Given the description of an element on the screen output the (x, y) to click on. 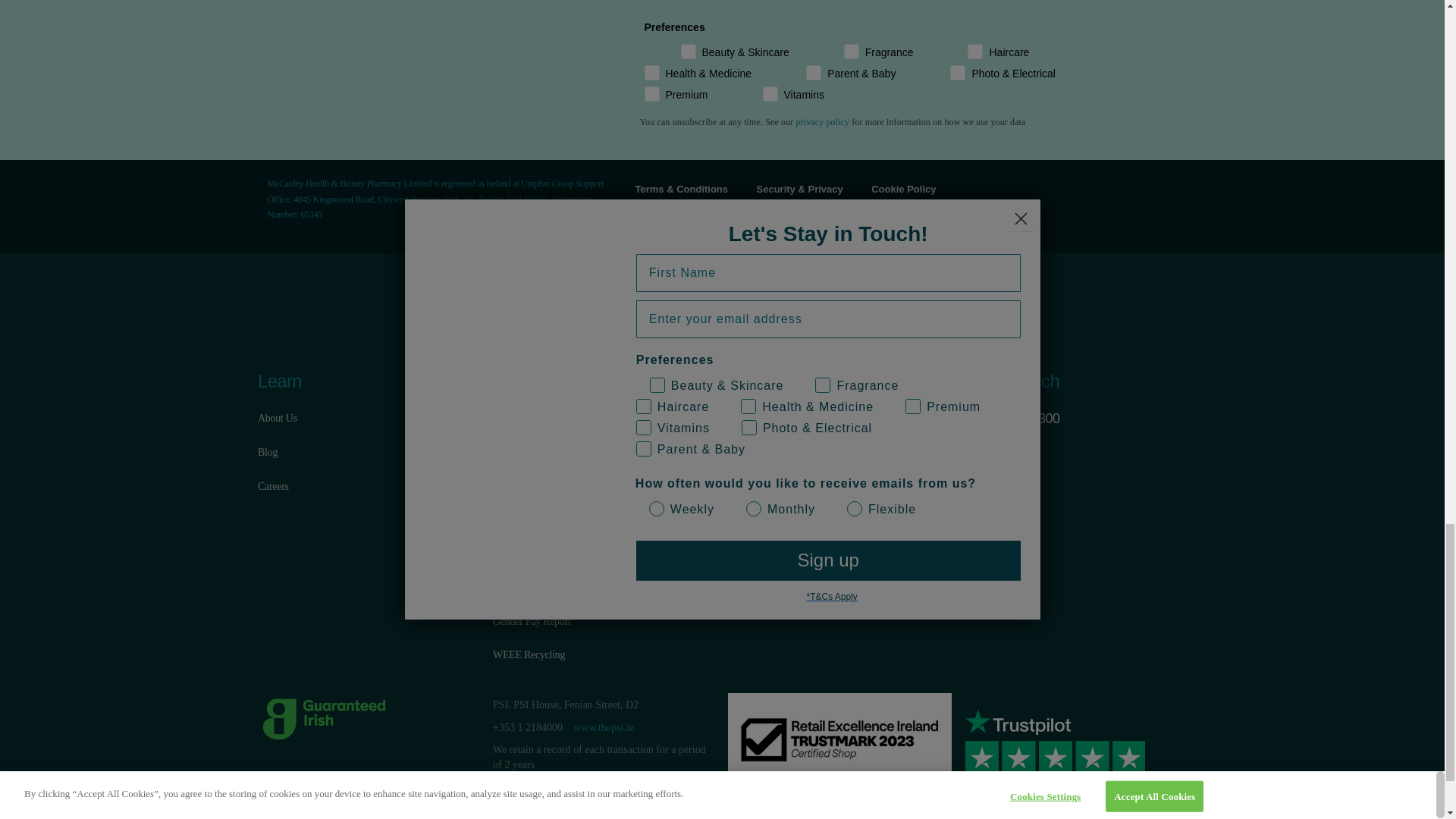
on (1051, 56)
on (759, 1)
on (649, 56)
on (918, 77)
on (731, 98)
on (1078, 77)
on (872, 1)
on (935, 56)
on (774, 77)
on (812, 56)
